Given the description of an element on the screen output the (x, y) to click on. 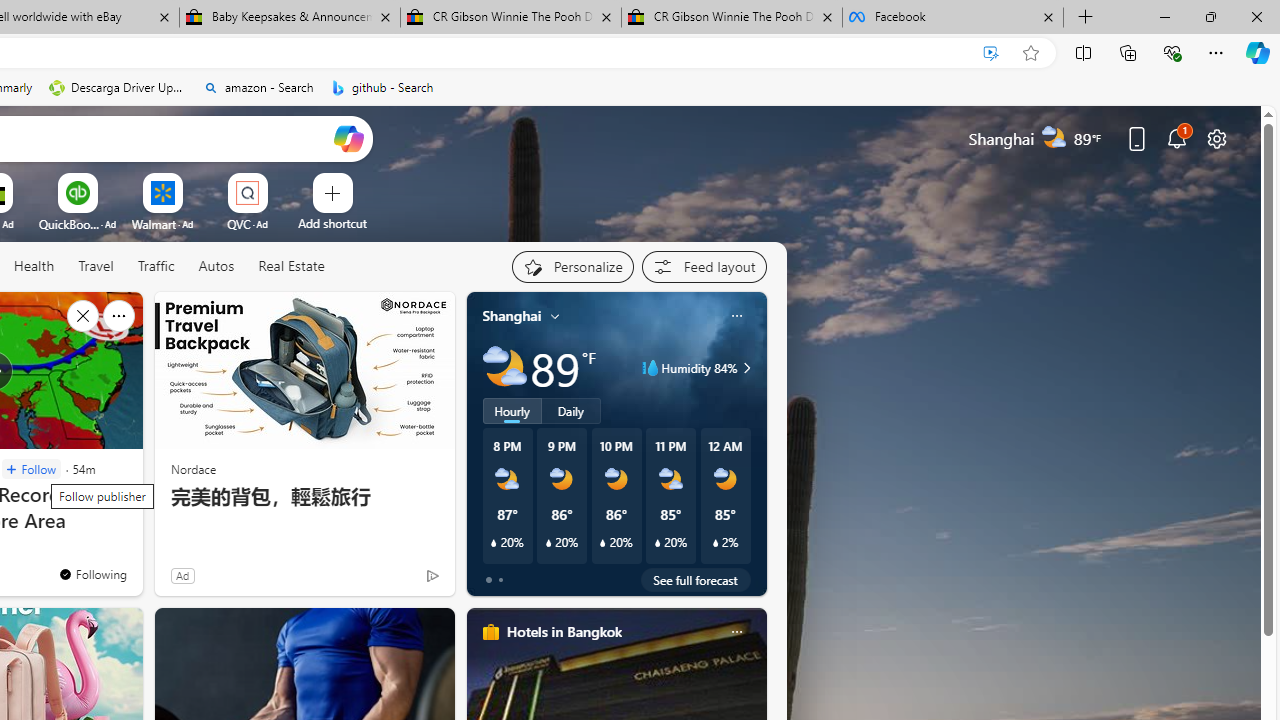
Partly cloudy (504, 368)
My location (555, 315)
Health (34, 265)
See full forecast (695, 579)
Class: weather-arrow-glyph (746, 367)
Humidity 84% (744, 367)
Follow (31, 469)
Ad Choice (432, 575)
